Given the description of an element on the screen output the (x, y) to click on. 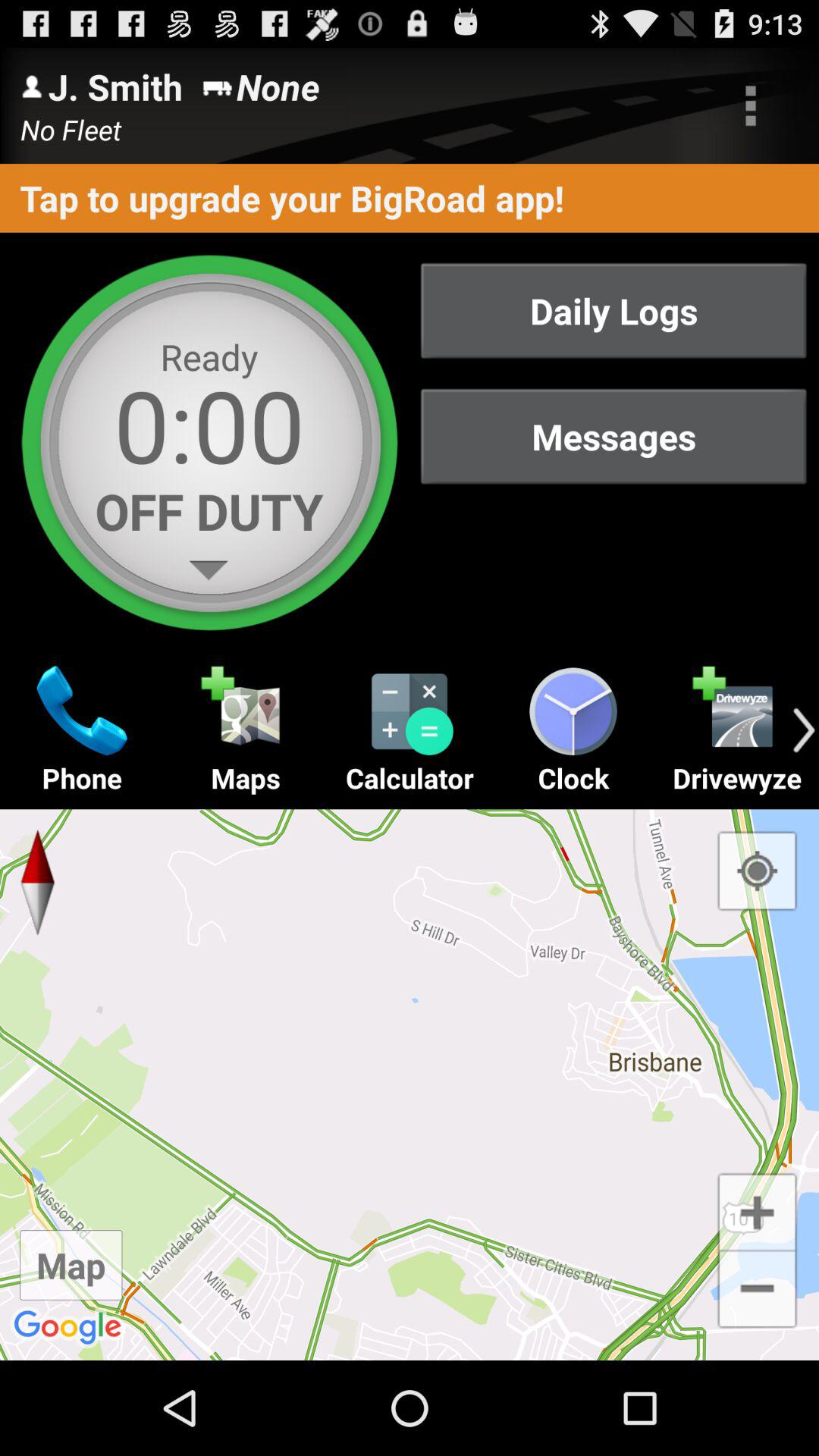
tap the icon below the drivewyze item (757, 870)
